Given the description of an element on the screen output the (x, y) to click on. 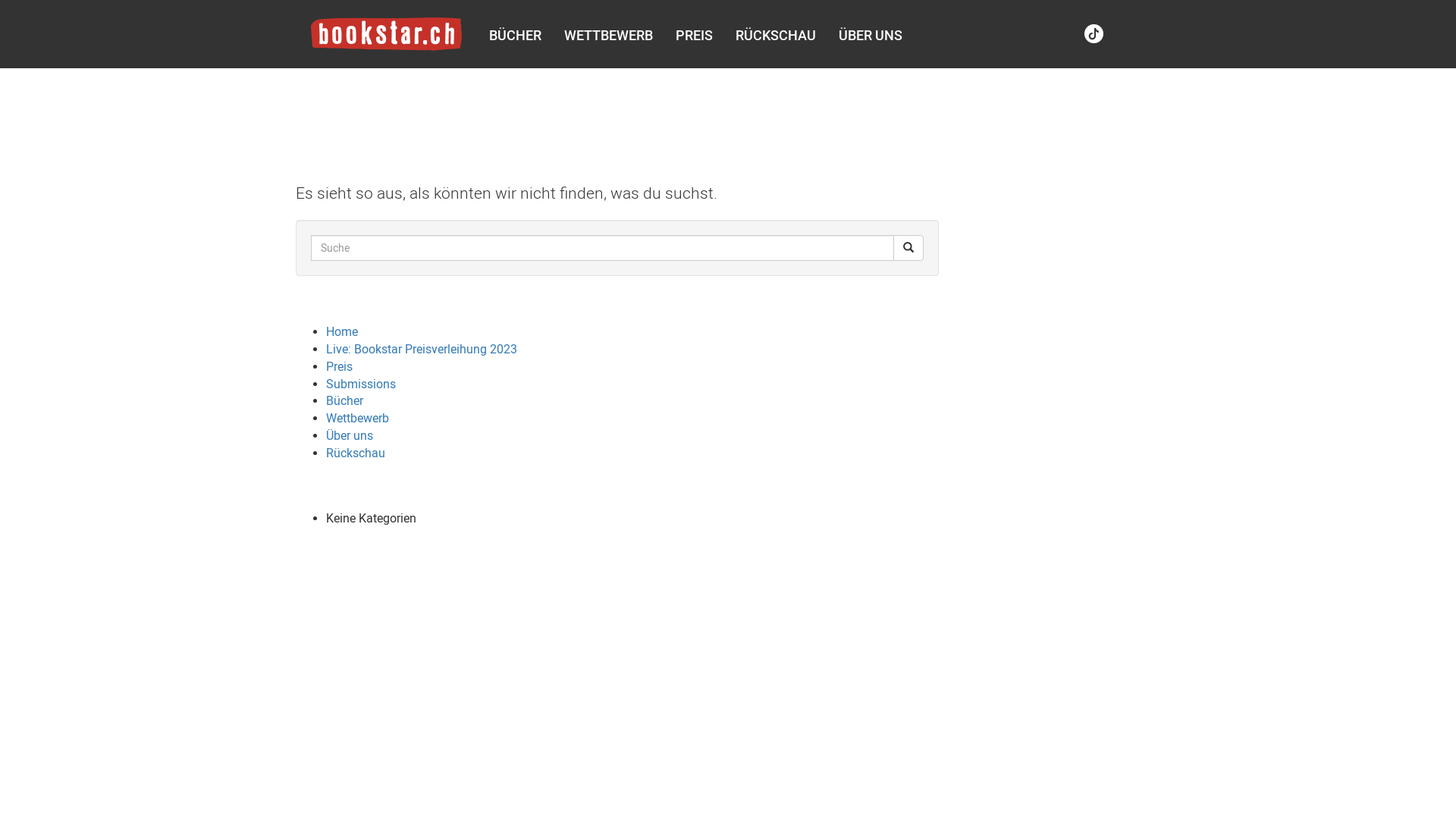
PREIS Element type: text (694, 35)
Preis Element type: text (339, 366)
Live: Bookstar Preisverleihung 2023 Element type: text (421, 349)
Home Element type: text (341, 331)
Submissions Element type: text (360, 383)
Wettbewerb Element type: text (357, 418)
WETTBEWERB Element type: text (608, 35)
